Given the description of an element on the screen output the (x, y) to click on. 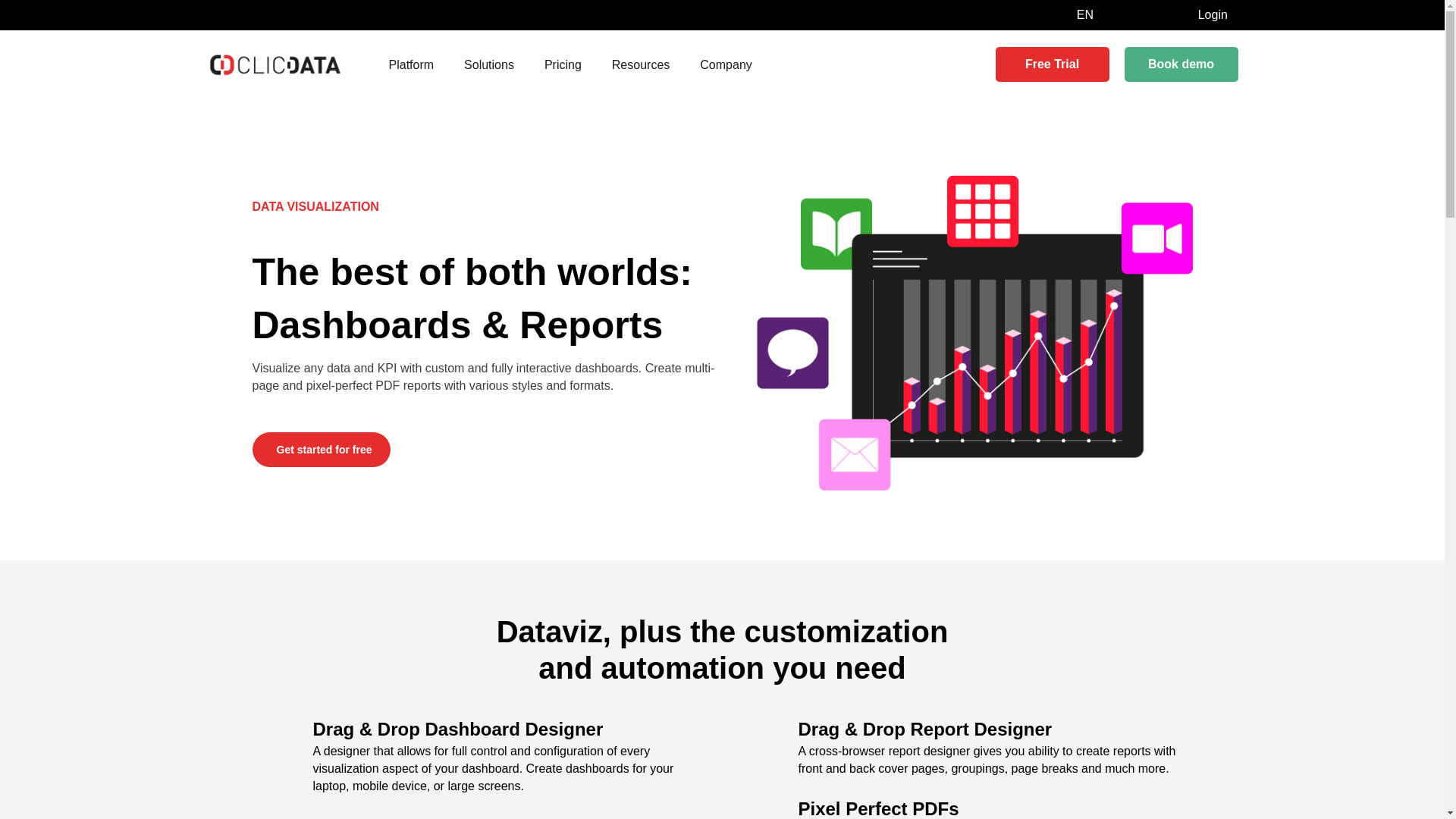
Solutions (488, 64)
Pricing (562, 64)
Platform (410, 64)
Data Management, Analytics and Reporting Platform (274, 64)
Login (1212, 14)
